Given the description of an element on the screen output the (x, y) to click on. 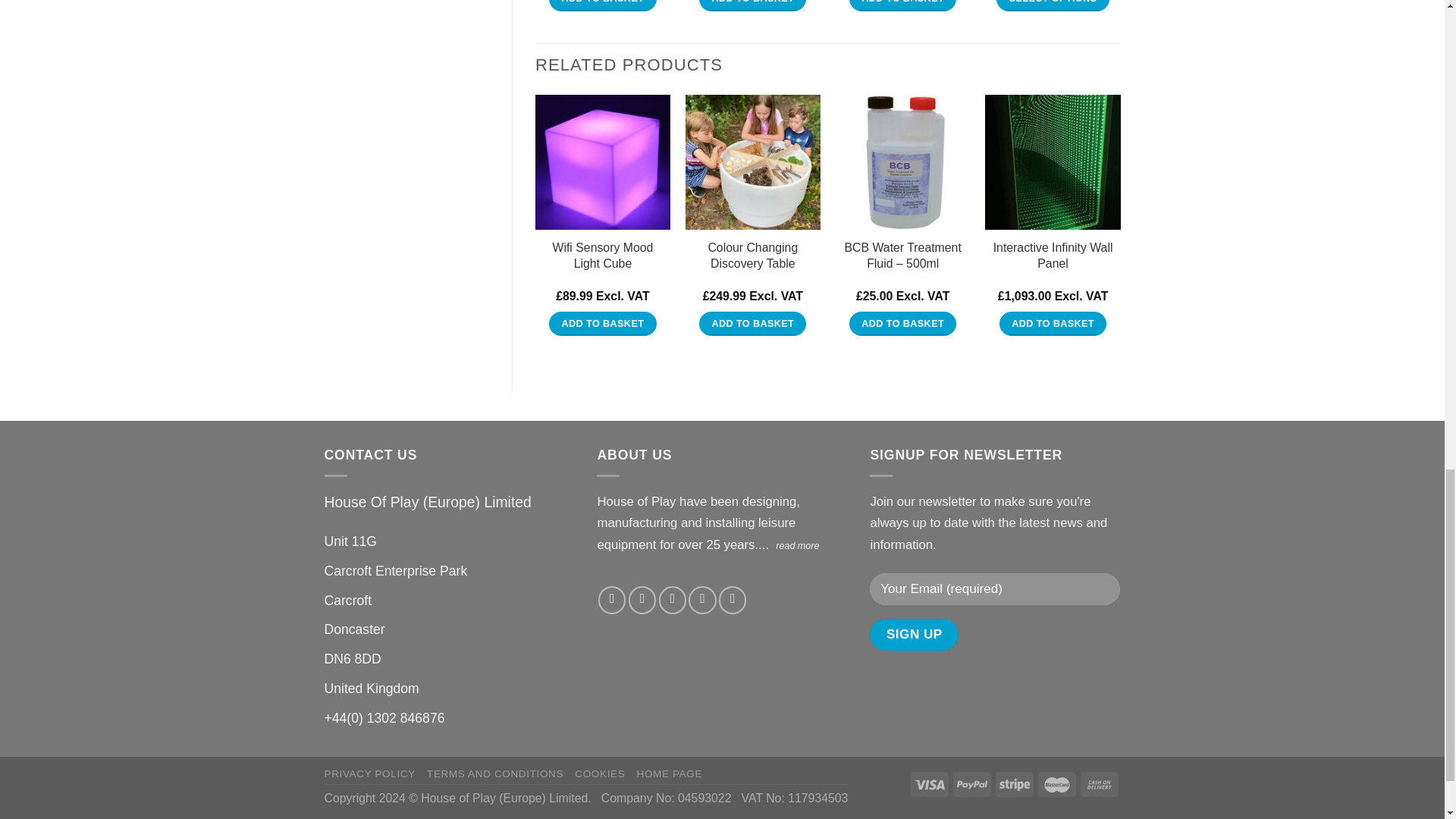
Sign Up (913, 635)
